Given the description of an element on the screen output the (x, y) to click on. 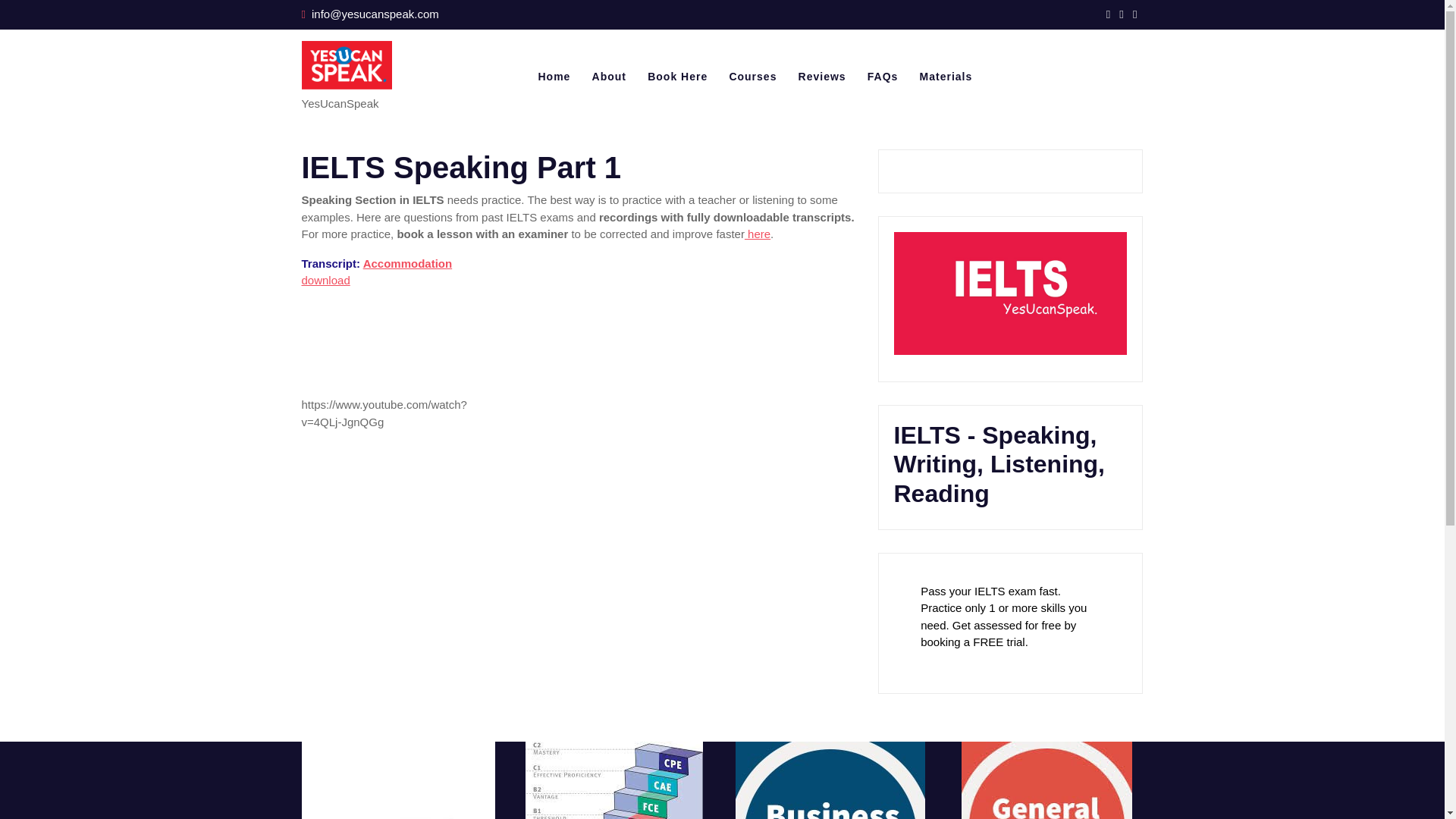
Home (554, 76)
Book Here (677, 76)
Reviews (821, 76)
here (757, 233)
About (609, 76)
Courses (752, 76)
Accommodation download (376, 272)
FAQs (882, 76)
Materials (946, 76)
